Given the description of an element on the screen output the (x, y) to click on. 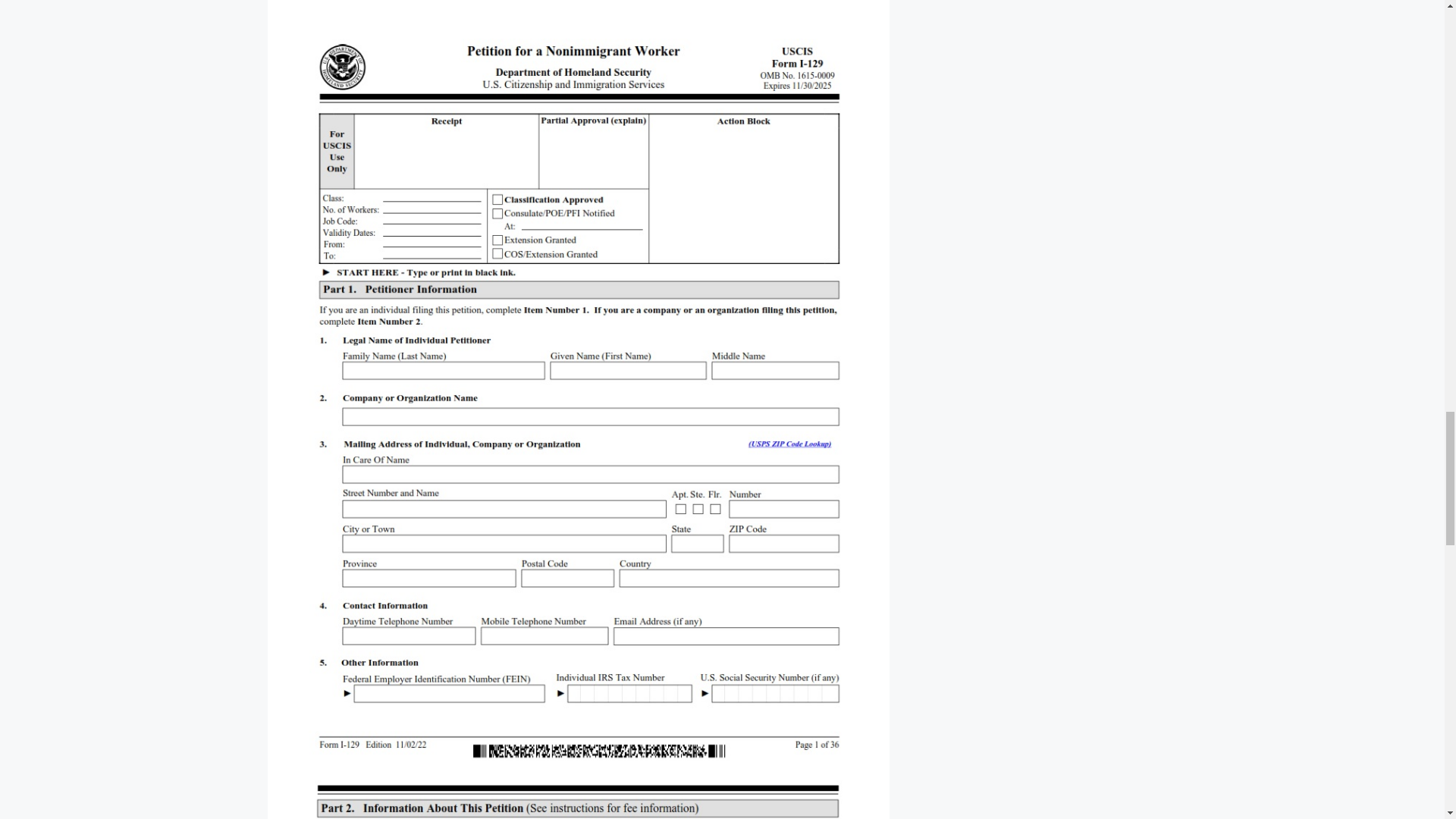
I 129 Form Page 2 (578, 790)
